Given the description of an element on the screen output the (x, y) to click on. 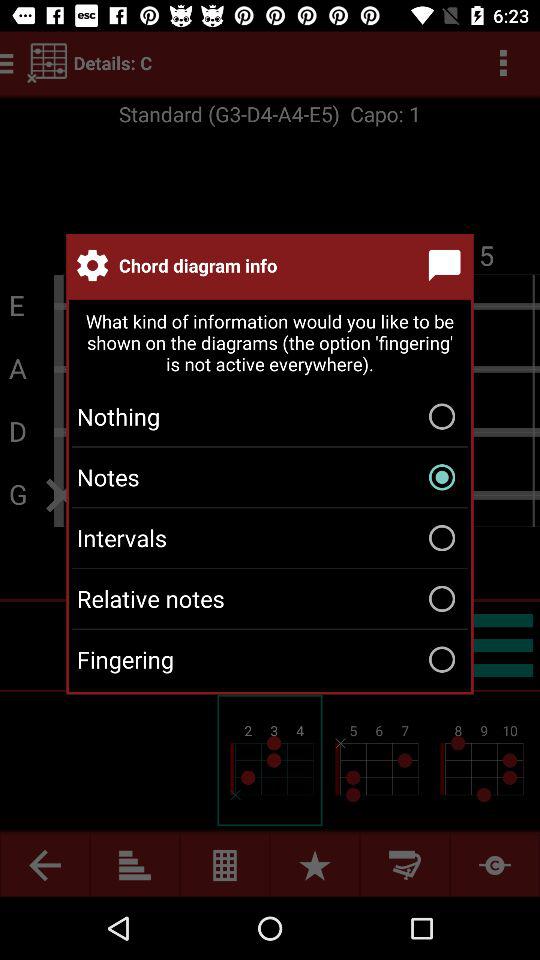
jump to the intervals icon (269, 537)
